Given the description of an element on the screen output the (x, y) to click on. 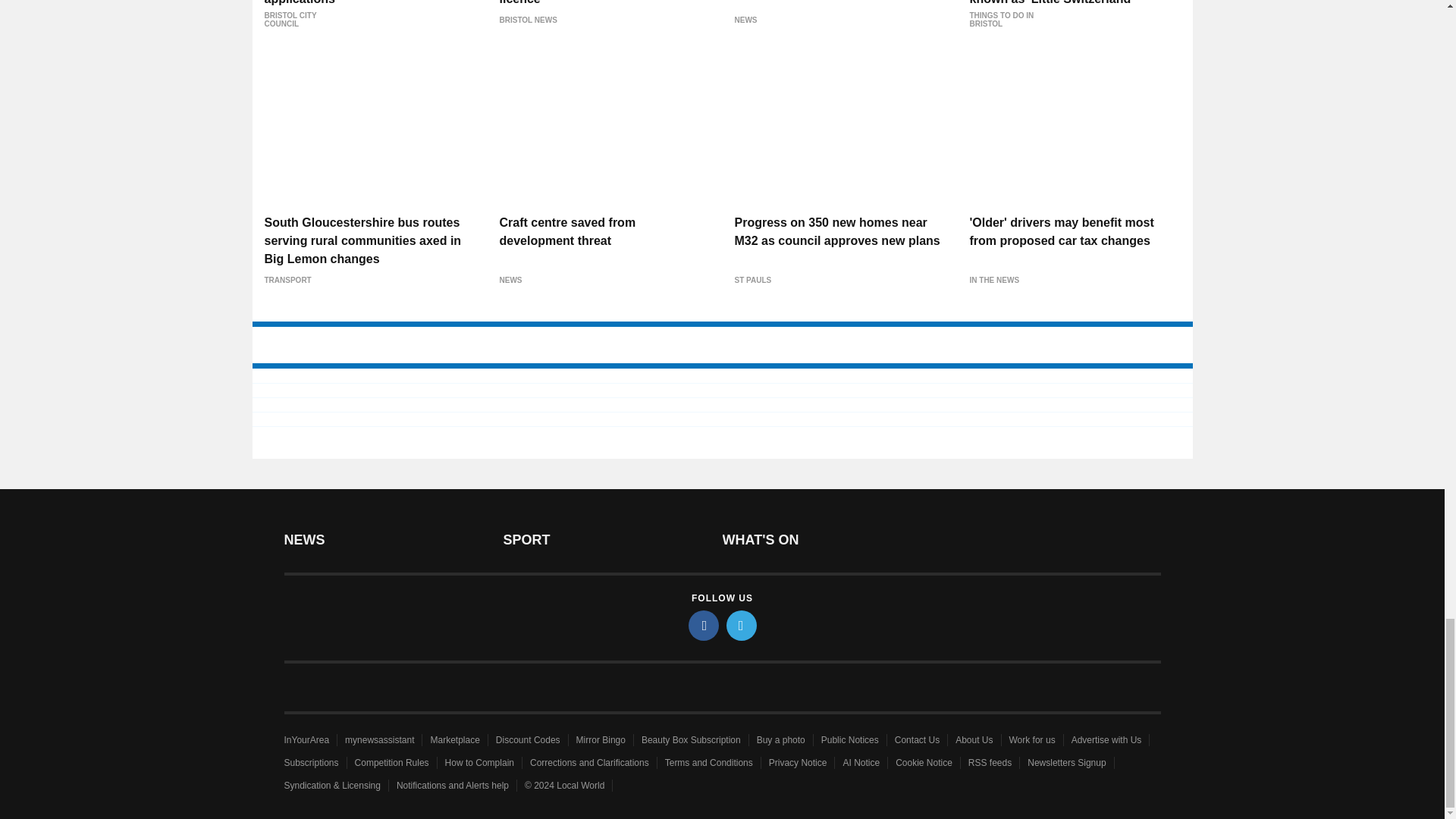
facebook (703, 625)
twitter (741, 625)
